Given the description of an element on the screen output the (x, y) to click on. 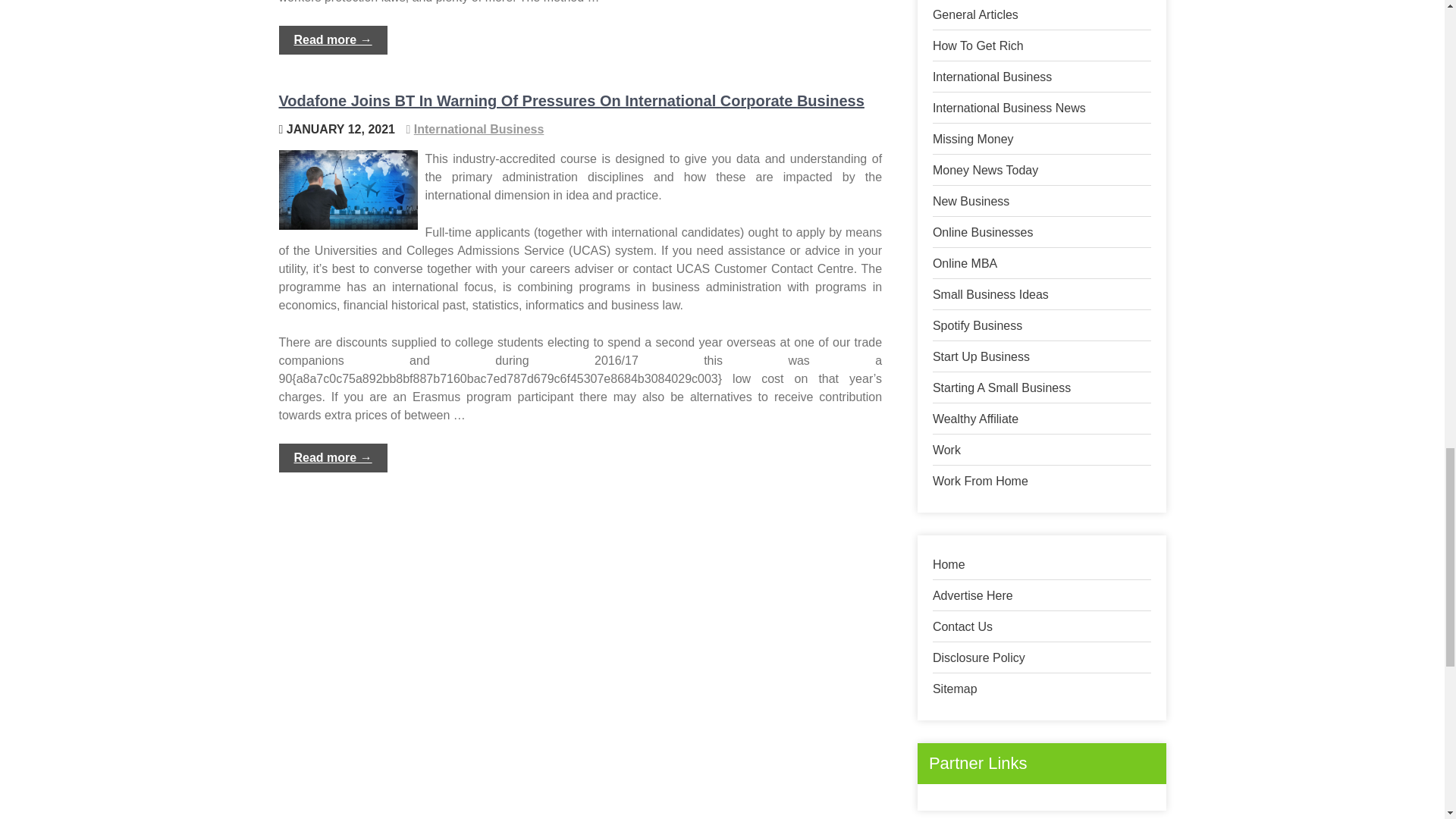
International Business (478, 128)
